Given the description of an element on the screen output the (x, y) to click on. 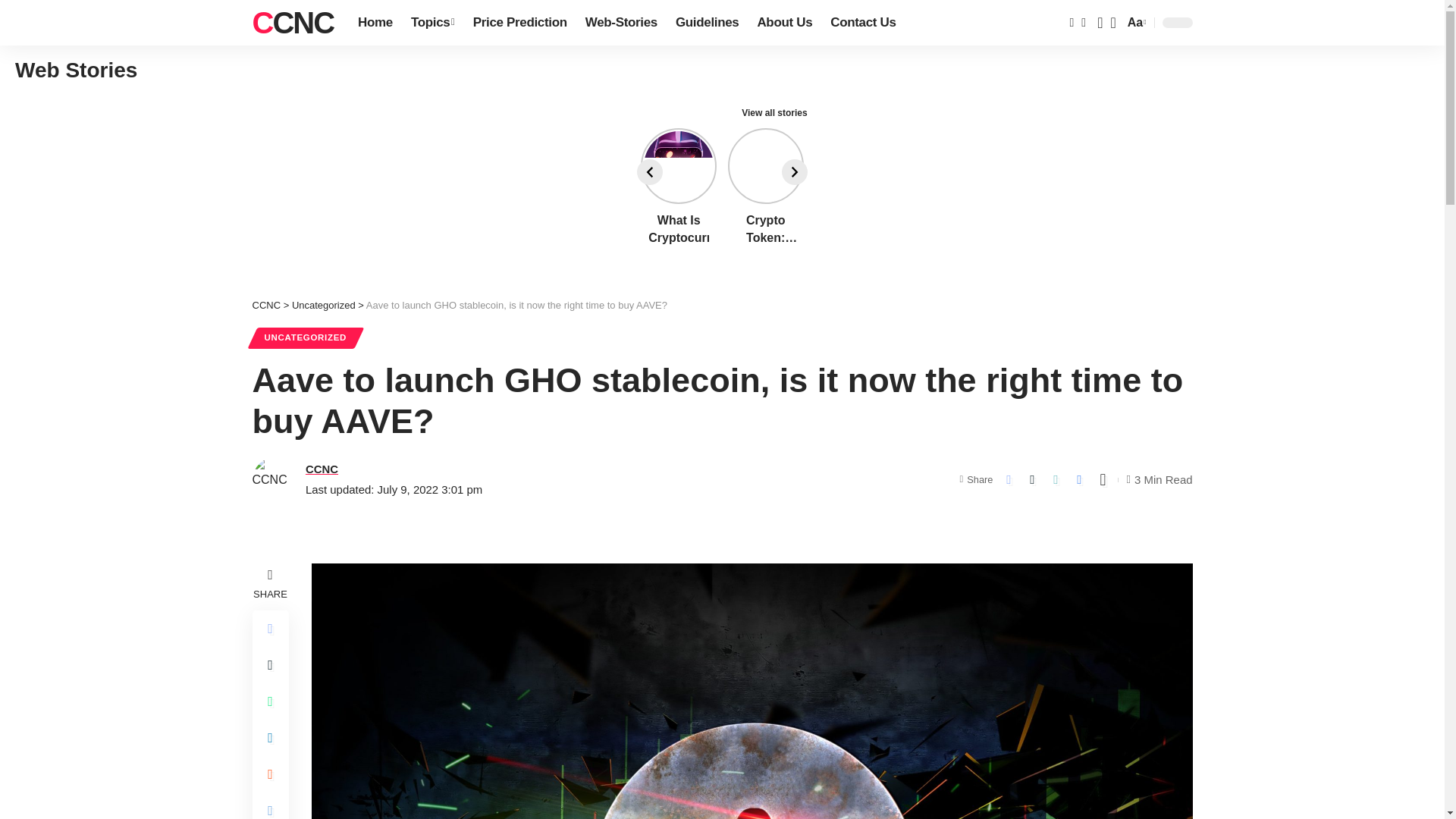
Price Prediction (520, 22)
Web-Stories (621, 22)
Go to the Uncategorized Category archives. (323, 305)
Contact Us (862, 22)
Go to CCNC. (266, 305)
CCNC (292, 22)
CCNC (1135, 22)
Guidelines (292, 22)
